Given the description of an element on the screen output the (x, y) to click on. 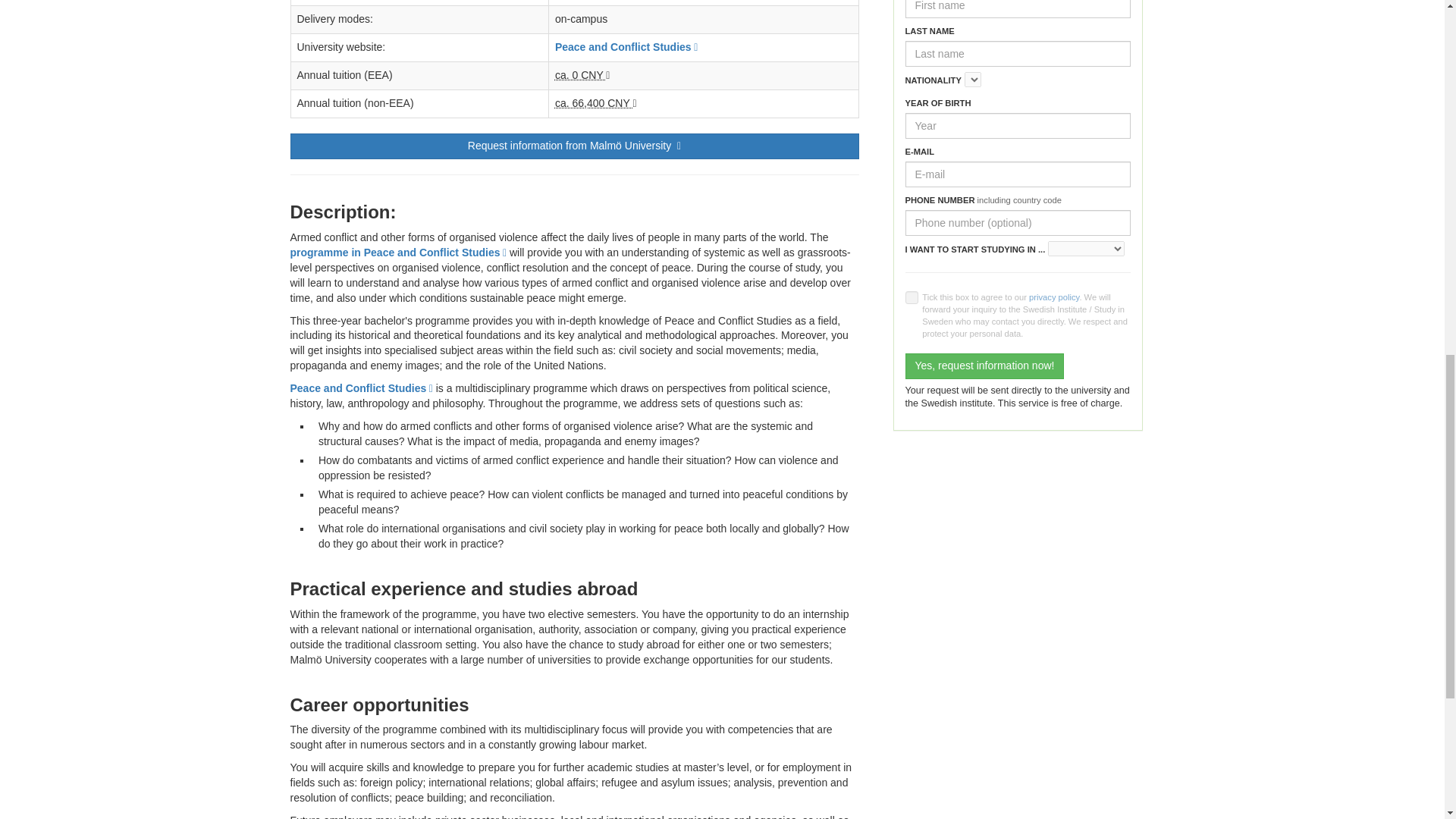
Visit university website (625, 46)
Yes, request information now! (984, 365)
programme in Peace and Conflict Studies (397, 252)
privacy policy (1053, 297)
Peace and Conflict Studies (360, 387)
Peace and Conflict Studies (625, 46)
